Given the description of an element on the screen output the (x, y) to click on. 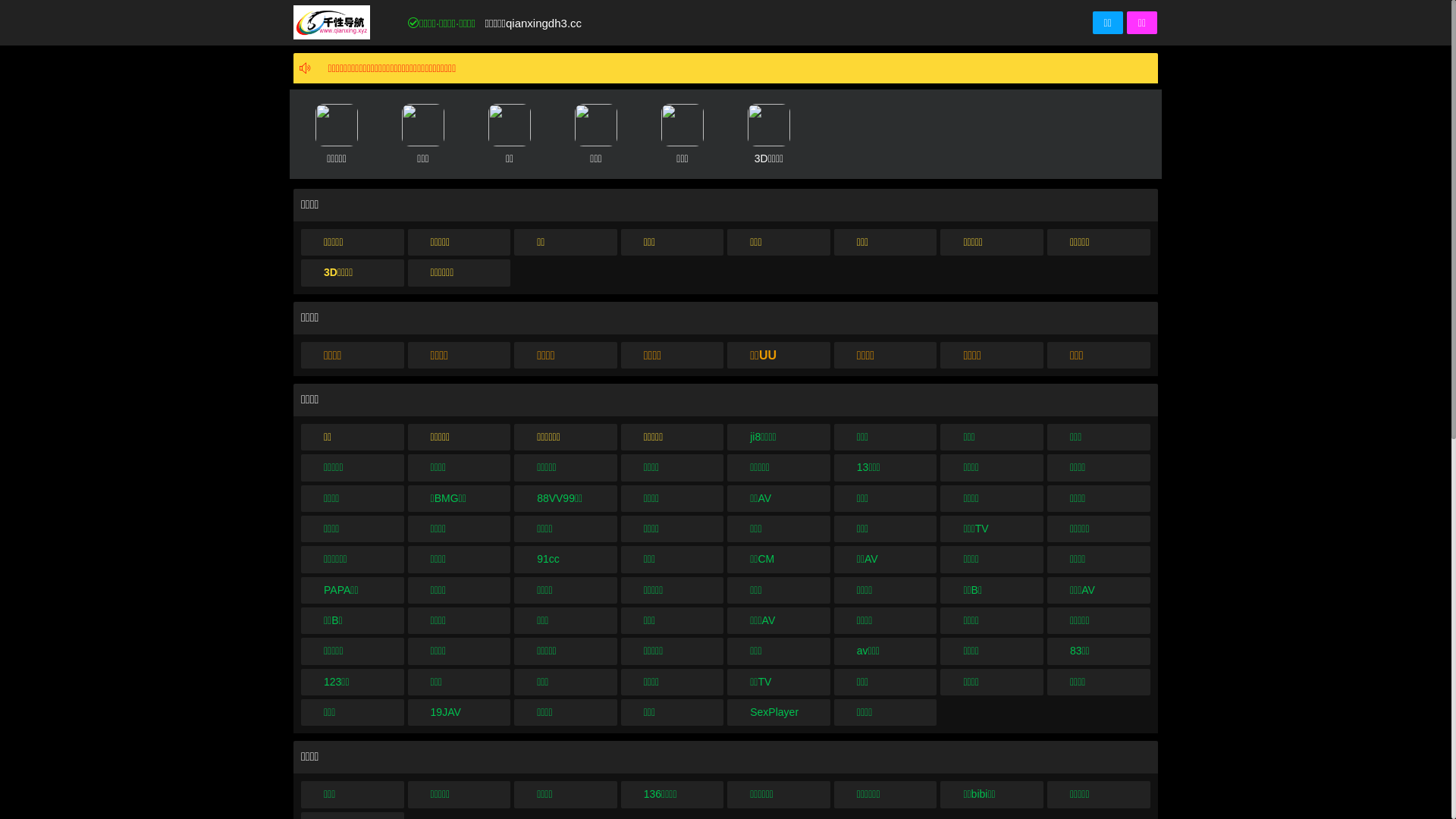
19JAV Element type: text (459, 712)
91cc Element type: text (565, 559)
  Element type: text (323, 68)
SexPlayer Element type: text (778, 712)
